Given the description of an element on the screen output the (x, y) to click on. 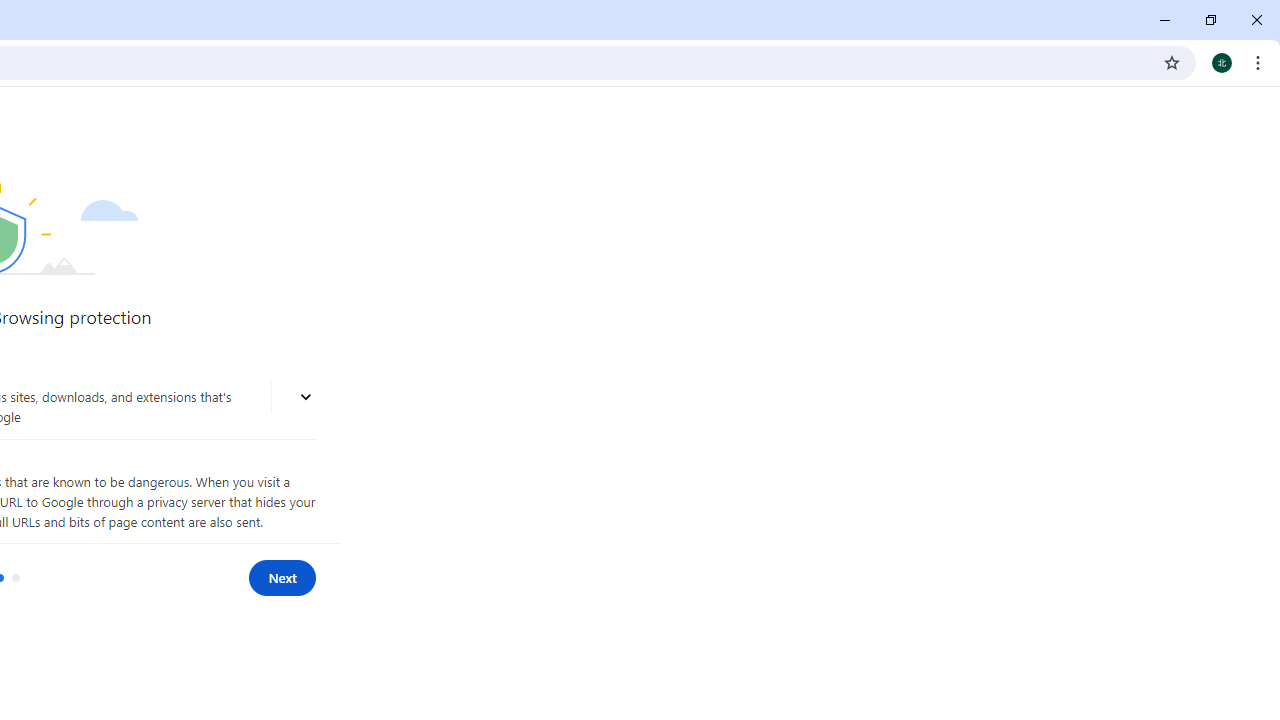
Show enhanced protection details (305, 397)
